Given the description of an element on the screen output the (x, y) to click on. 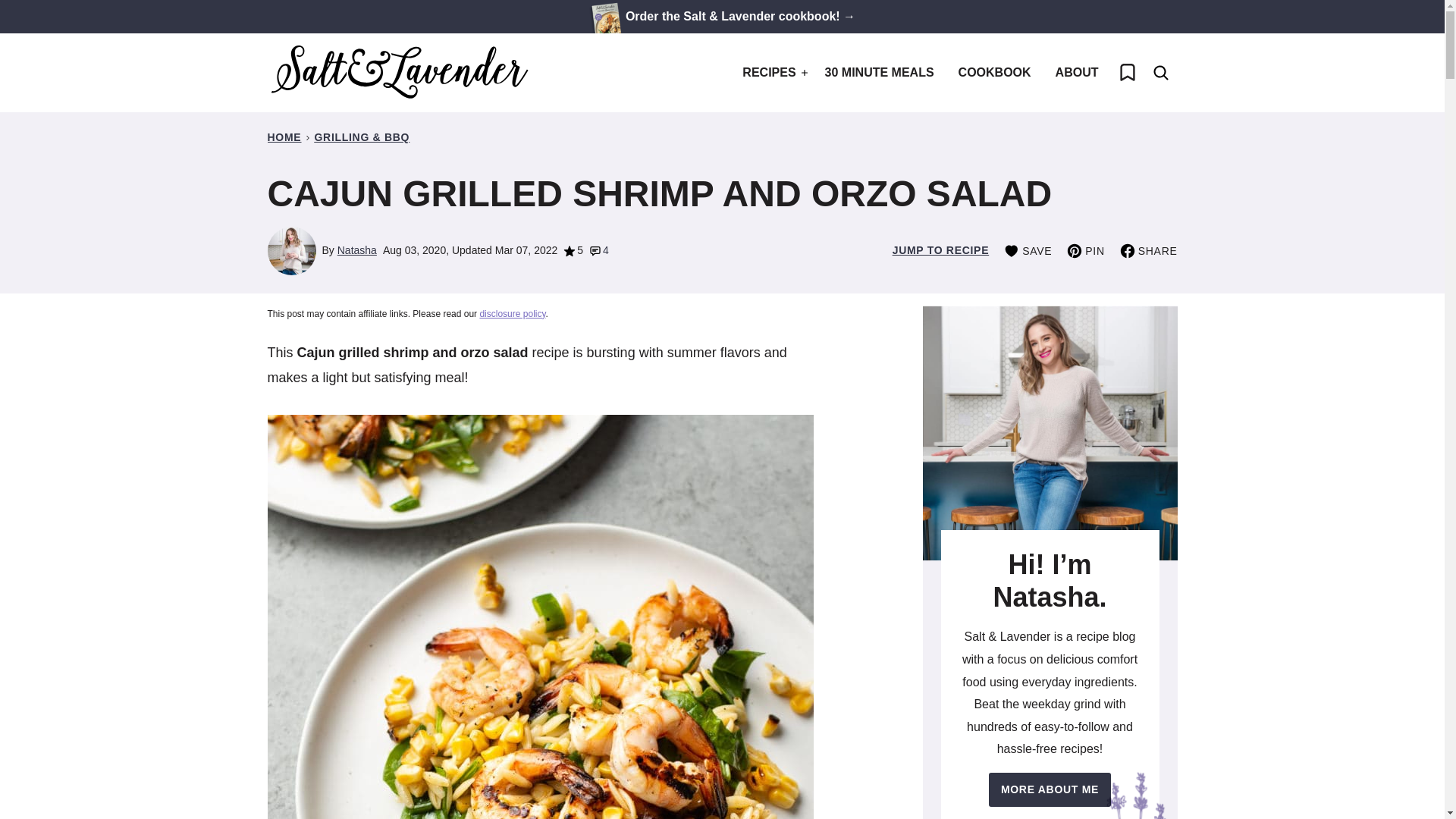
ABOUT (1076, 72)
HOME (283, 137)
My Favorites (1125, 72)
Share on Pinterest (1085, 250)
Share on Facebook (1148, 250)
30 MINUTE MEALS (879, 72)
PIN (1085, 250)
SHARE (1148, 250)
disclosure policy (511, 313)
4 (598, 250)
COOKBOOK (994, 72)
Natasha (357, 250)
RECIPES (771, 72)
JUMP TO RECIPE (941, 250)
SAVE (1027, 250)
